Given the description of an element on the screen output the (x, y) to click on. 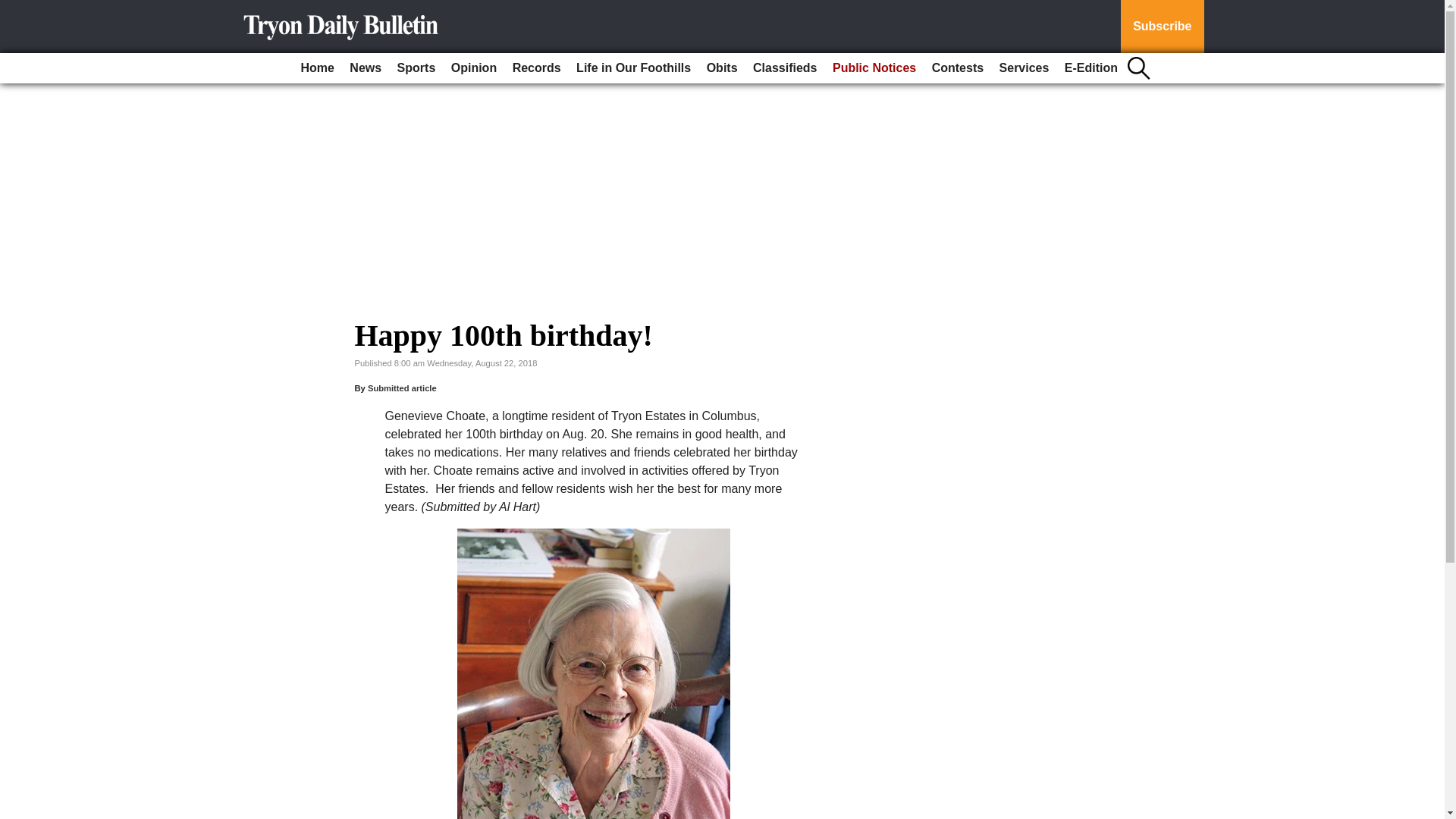
Classifieds (784, 68)
Records (536, 68)
Public Notices (874, 68)
Services (1023, 68)
Contests (958, 68)
Go (13, 9)
Home (316, 68)
Sports (416, 68)
Subscribe (1162, 26)
Submitted article (402, 388)
